Given the description of an element on the screen output the (x, y) to click on. 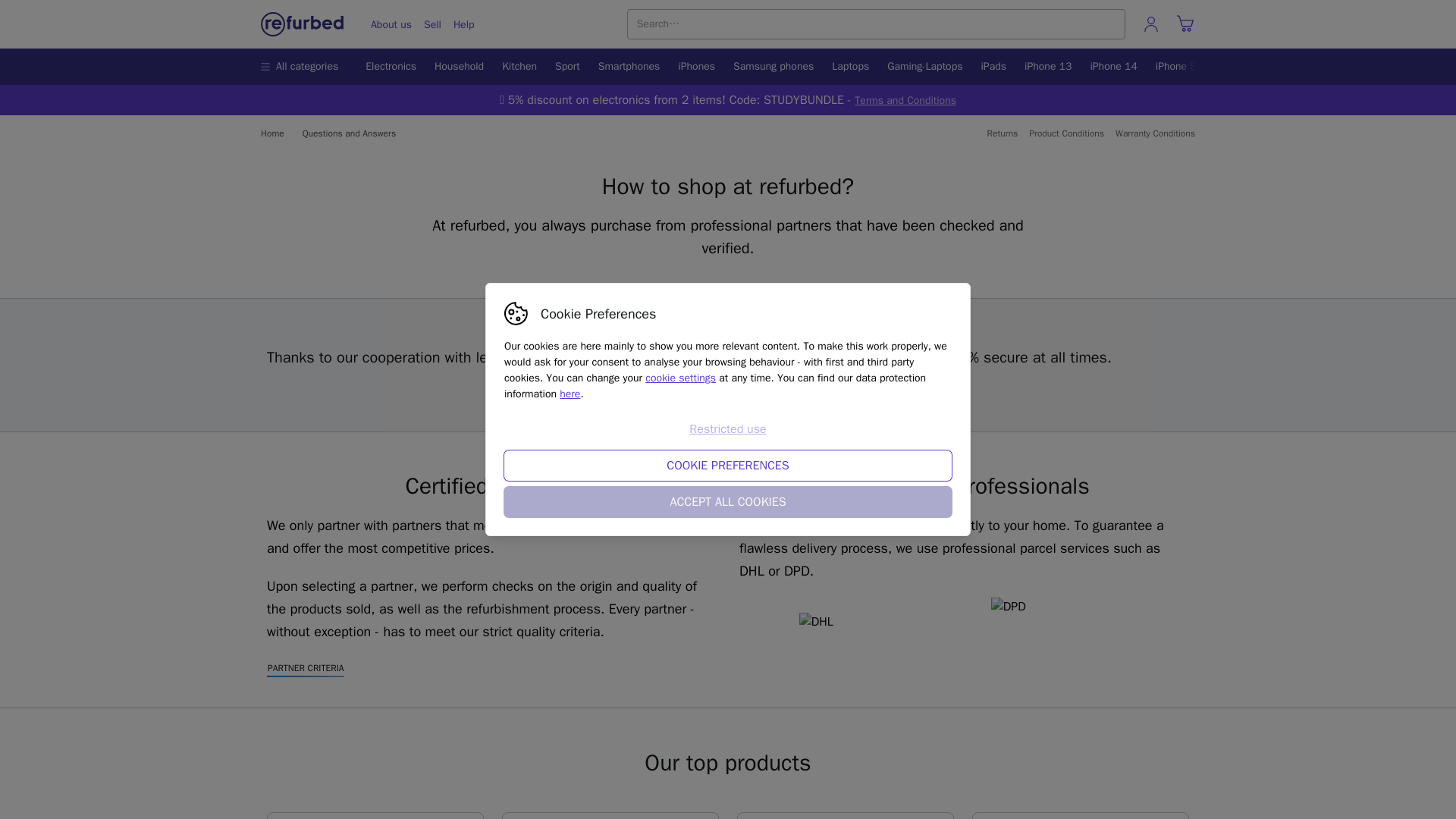
Sport (567, 66)
Household (459, 66)
About us (391, 24)
Samsung phones (772, 66)
iPads (994, 66)
Laptops (849, 66)
iPhone 14 (1112, 66)
Help (463, 24)
iPhone 13 (1047, 66)
All categories (303, 66)
